Given the description of an element on the screen output the (x, y) to click on. 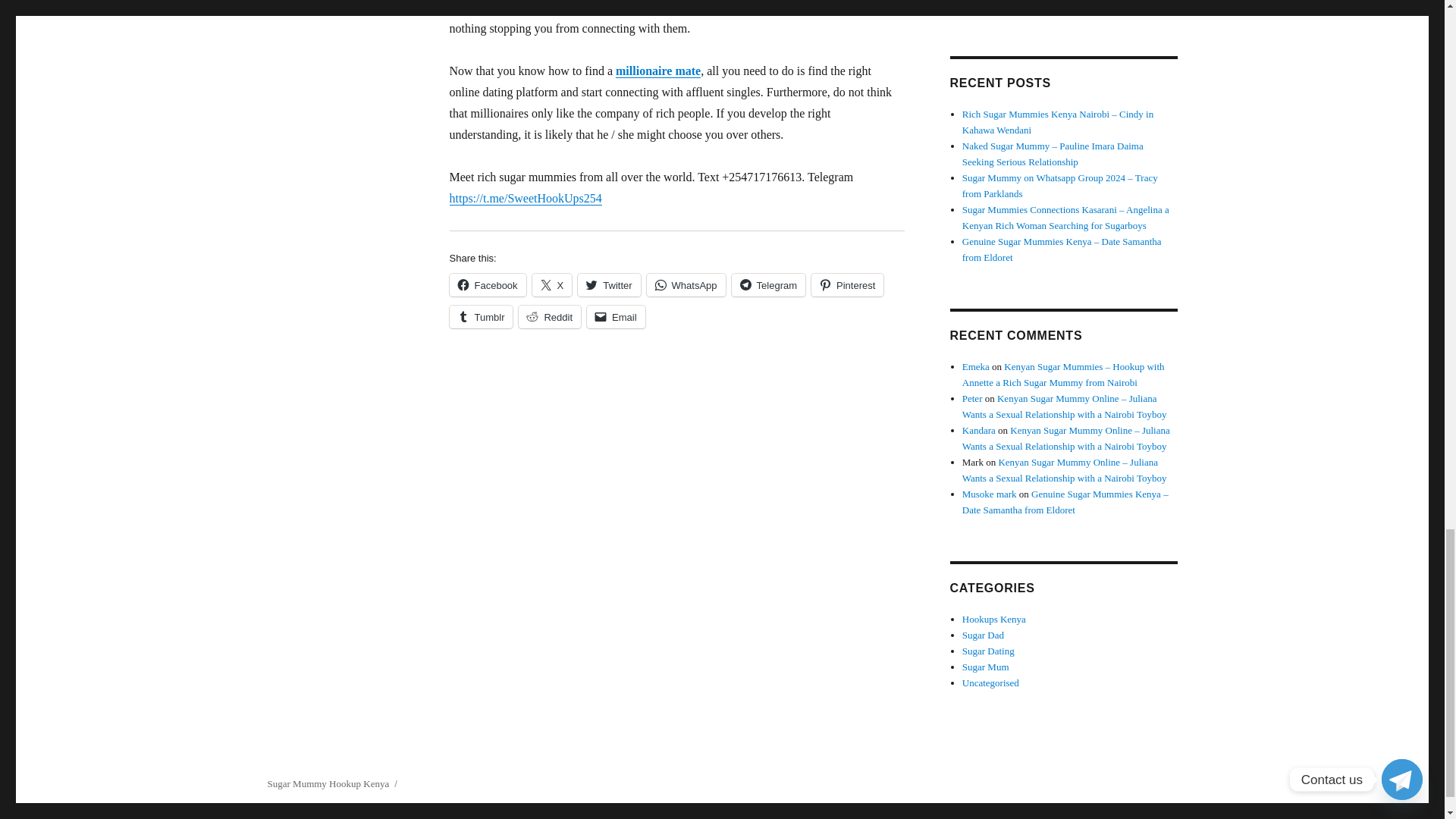
Click to share on X (552, 284)
millionaire mate (657, 70)
Click to share on Pinterest (846, 284)
Email (615, 316)
Pinterest (846, 284)
Click to share on WhatsApp (685, 284)
Click to share on Tumblr (480, 316)
Reddit (549, 316)
Click to share on Twitter (609, 284)
WhatsApp (685, 284)
Click to share on Telegram (768, 284)
Click to share on Facebook (486, 284)
Click to email a link to a friend (615, 316)
Telegram (768, 284)
Tumblr (480, 316)
